Given the description of an element on the screen output the (x, y) to click on. 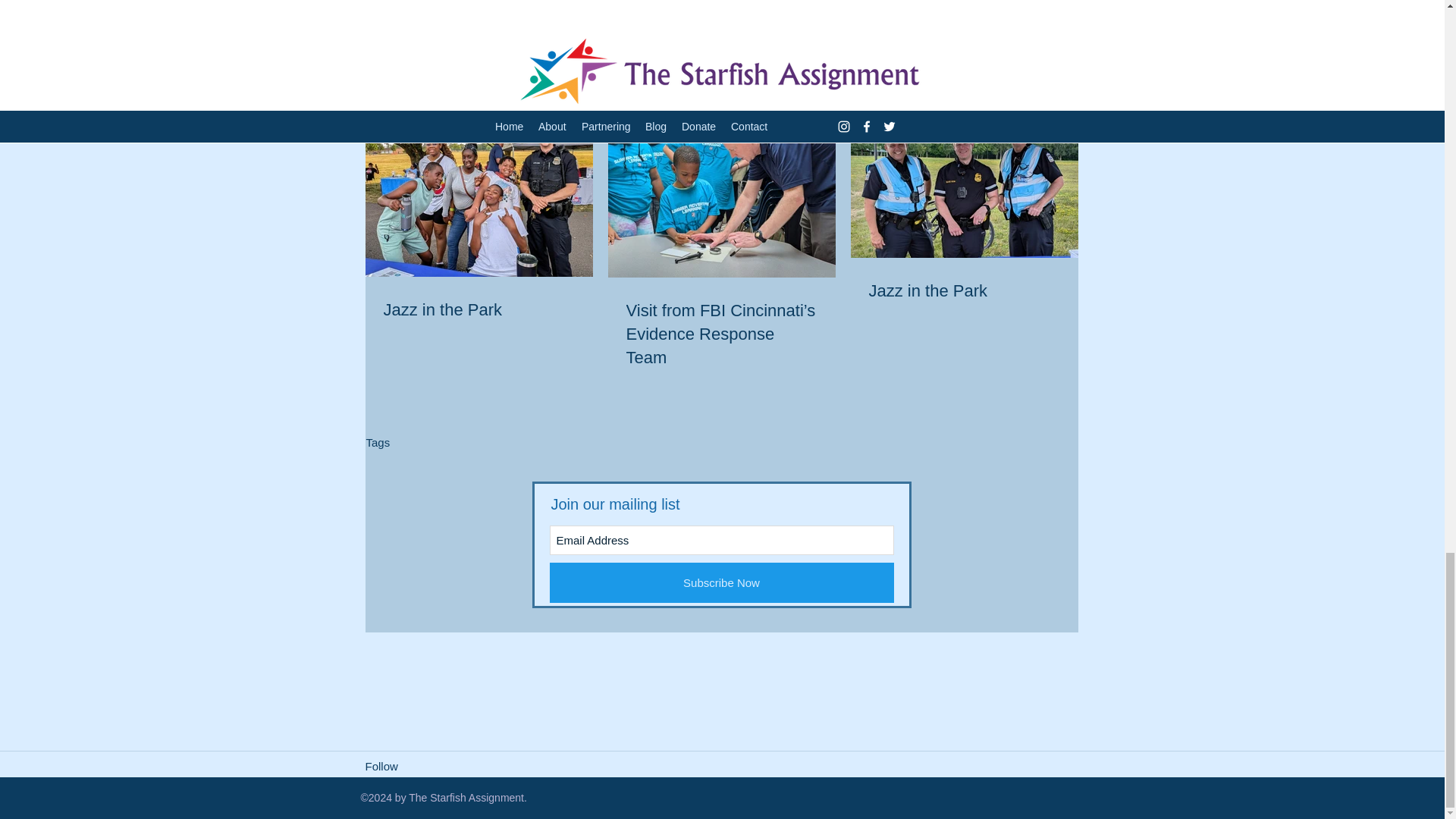
Jazz in the Park (479, 310)
Jazz in the Park (964, 291)
Subscribe Now (720, 582)
